Given the description of an element on the screen output the (x, y) to click on. 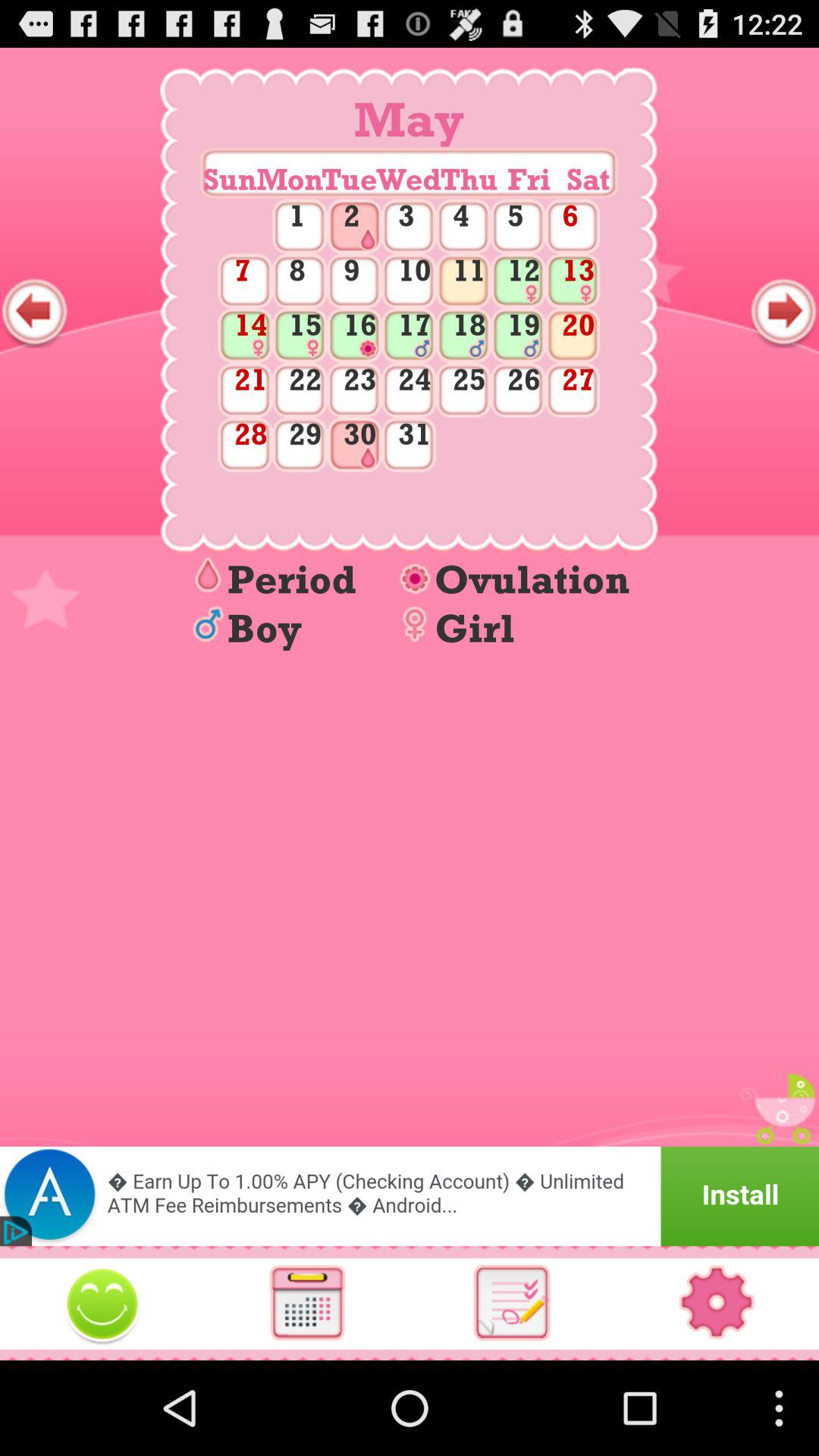
show favorites (102, 1302)
